Given the description of an element on the screen output the (x, y) to click on. 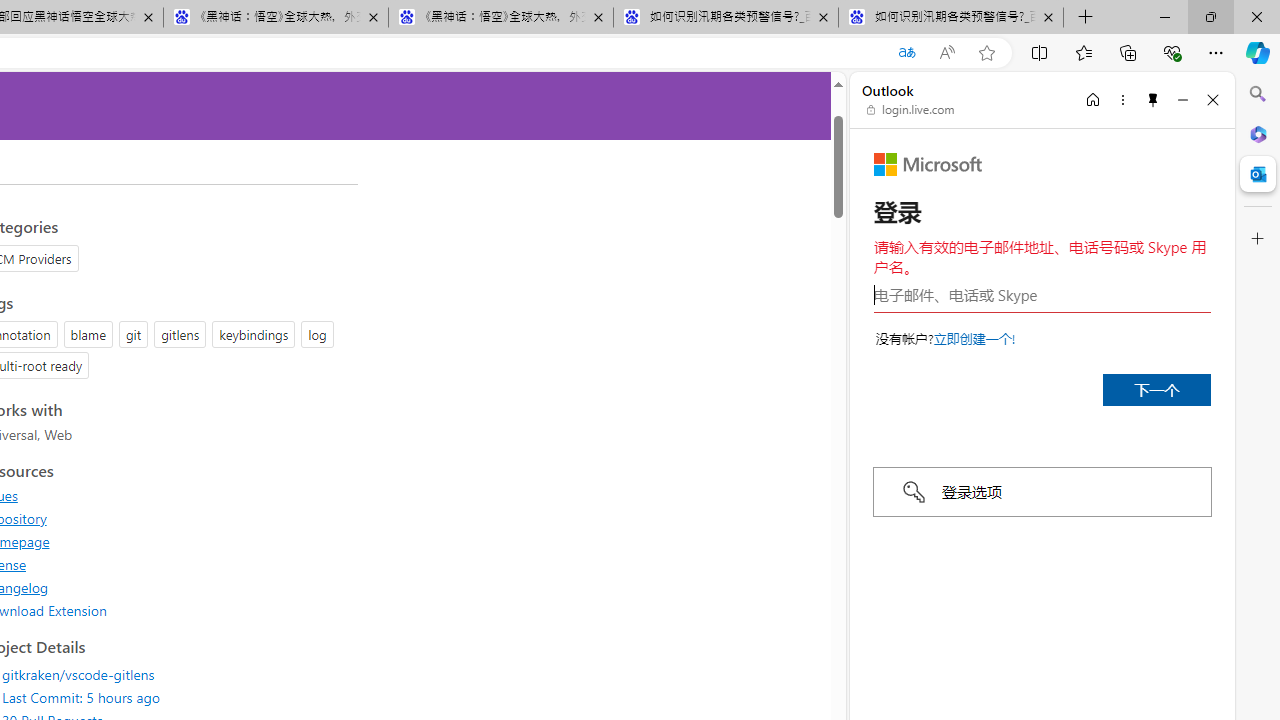
login.live.com (911, 110)
